Given the description of an element on the screen output the (x, y) to click on. 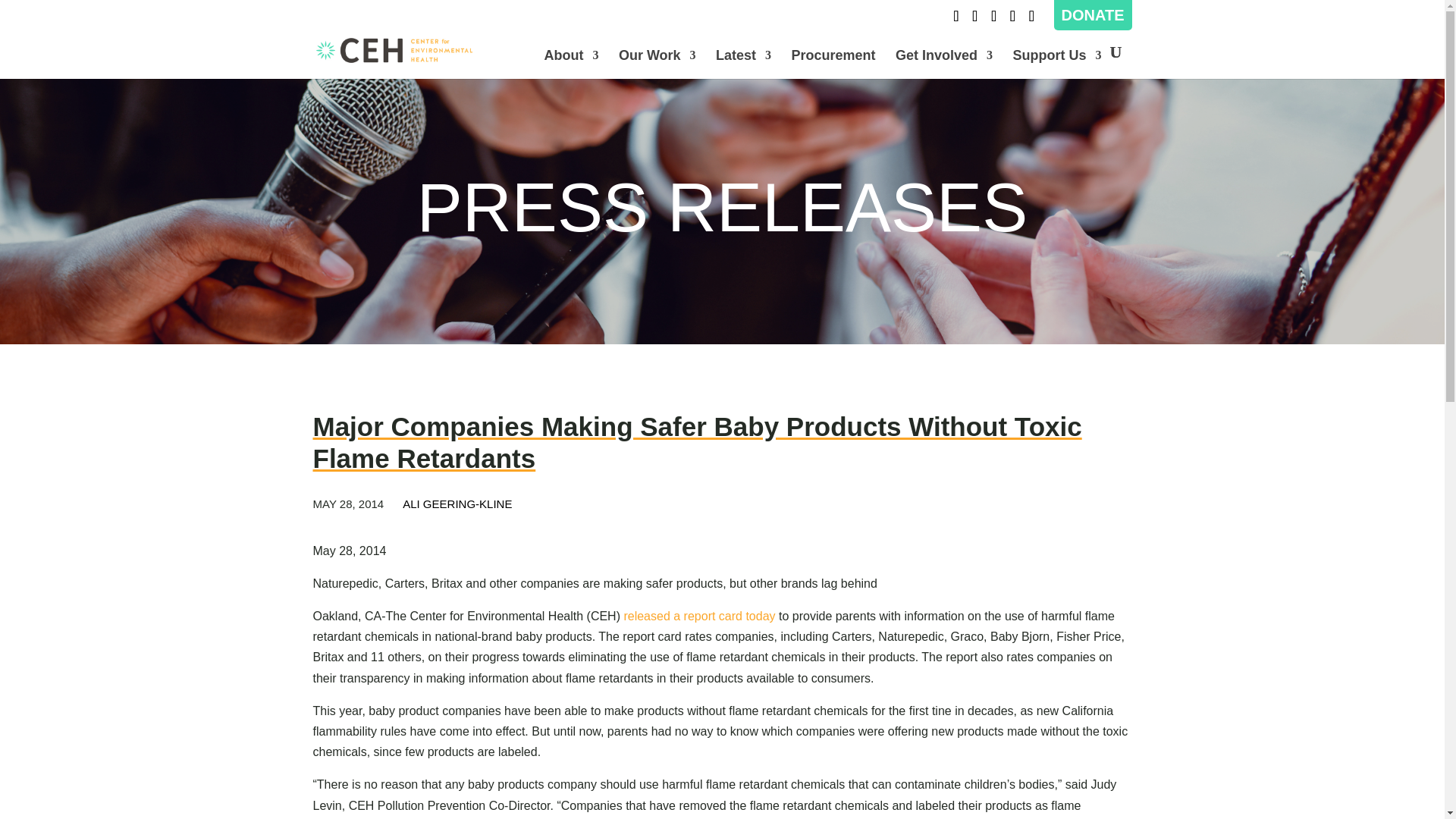
Opens in a new window (1031, 19)
Our Work (656, 63)
Opens in a new window (1012, 19)
About (570, 63)
Opens in a new window (955, 19)
DONATE (1092, 15)
Latest (743, 63)
Opens in a new window (993, 19)
Support Us (1057, 63)
Get Involved (943, 63)
Opens in a new window (974, 19)
Posts by Ali Geering-Kline (457, 503)
Procurement (834, 63)
